Given the description of an element on the screen output the (x, y) to click on. 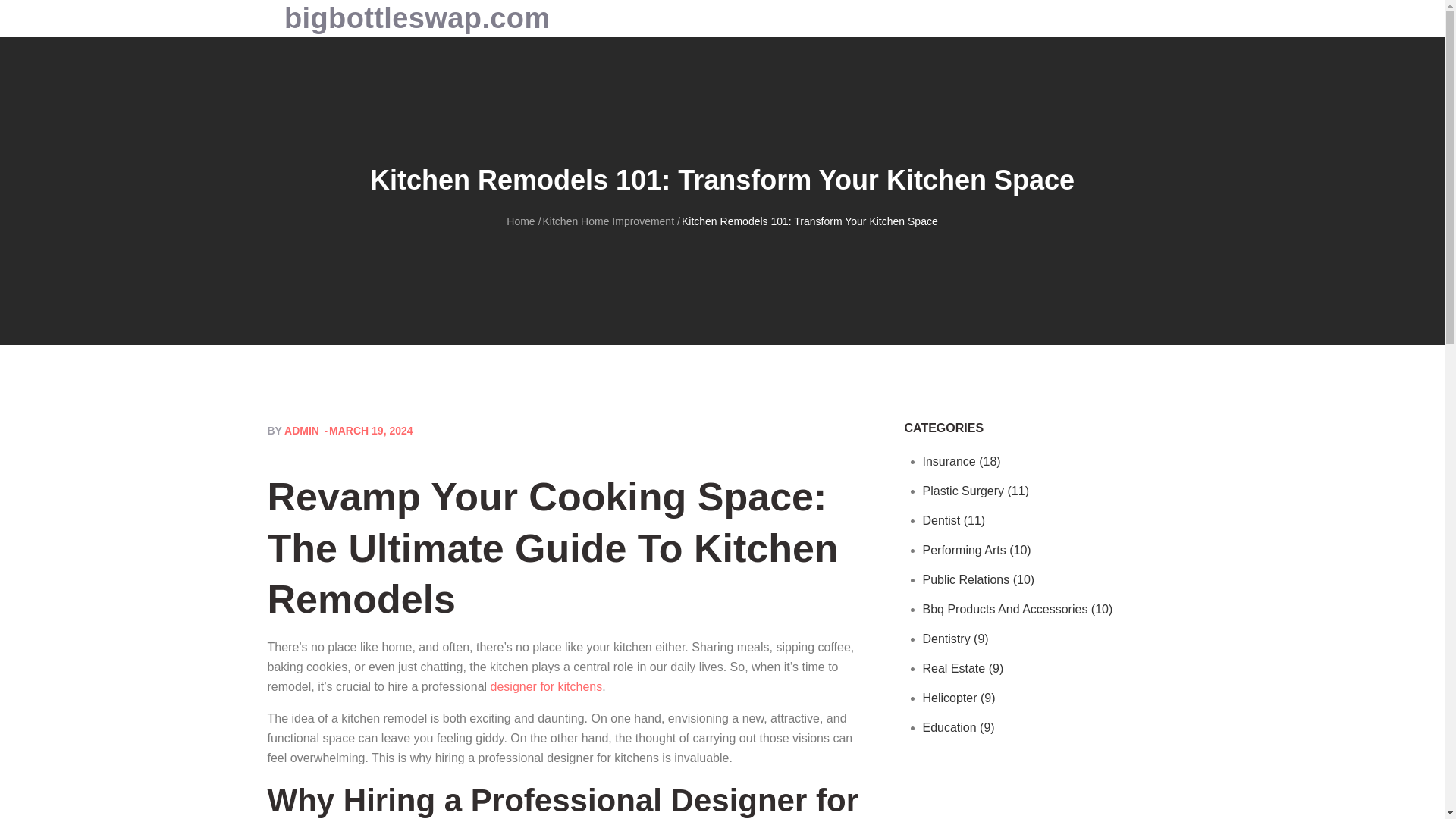
ADMIN (300, 430)
designer for kitchens (546, 686)
Kitchen Home Improvement (609, 221)
bigbottleswap.com (416, 18)
MARCH 19, 2024 (366, 430)
Home (520, 221)
